Given the description of an element on the screen output the (x, y) to click on. 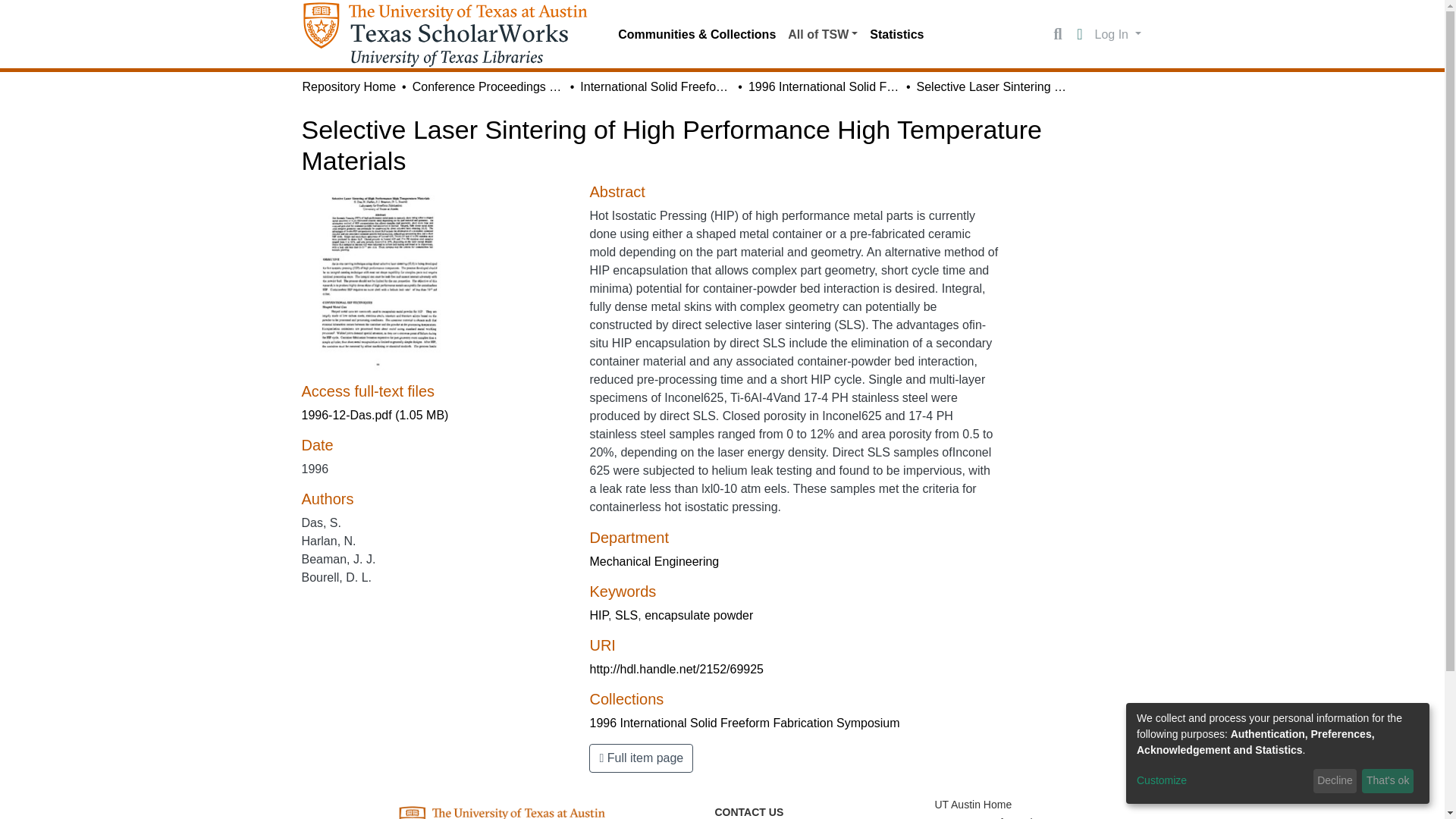
encapsulate powder (698, 615)
Log In (1117, 33)
1996 International Solid Freeform Fabrication Symposium (823, 86)
Conference Proceedings and Journals (488, 86)
CONTACT US (748, 811)
SLS (625, 615)
Repository Home (348, 86)
Search (1057, 34)
International Solid Freeform Fabrication Symposium (655, 86)
Full item page (641, 758)
Statistics (896, 34)
HIP (598, 615)
Language switch (1079, 34)
1996 International Solid Freeform Fabrication Symposium (744, 722)
UT Austin Home (972, 804)
